Given the description of an element on the screen output the (x, y) to click on. 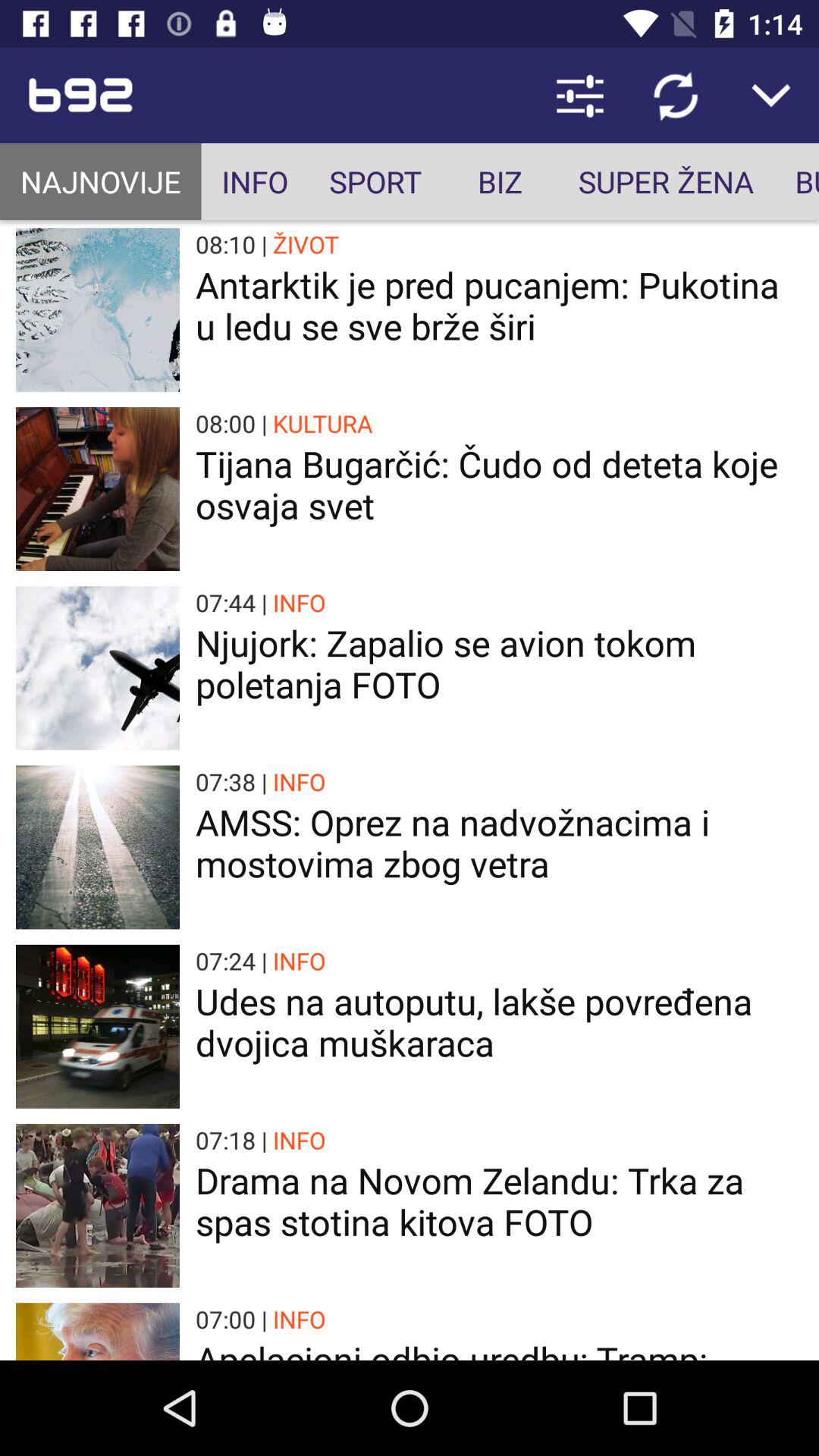
choose the app to the left of the info (100, 181)
